Given the description of an element on the screen output the (x, y) to click on. 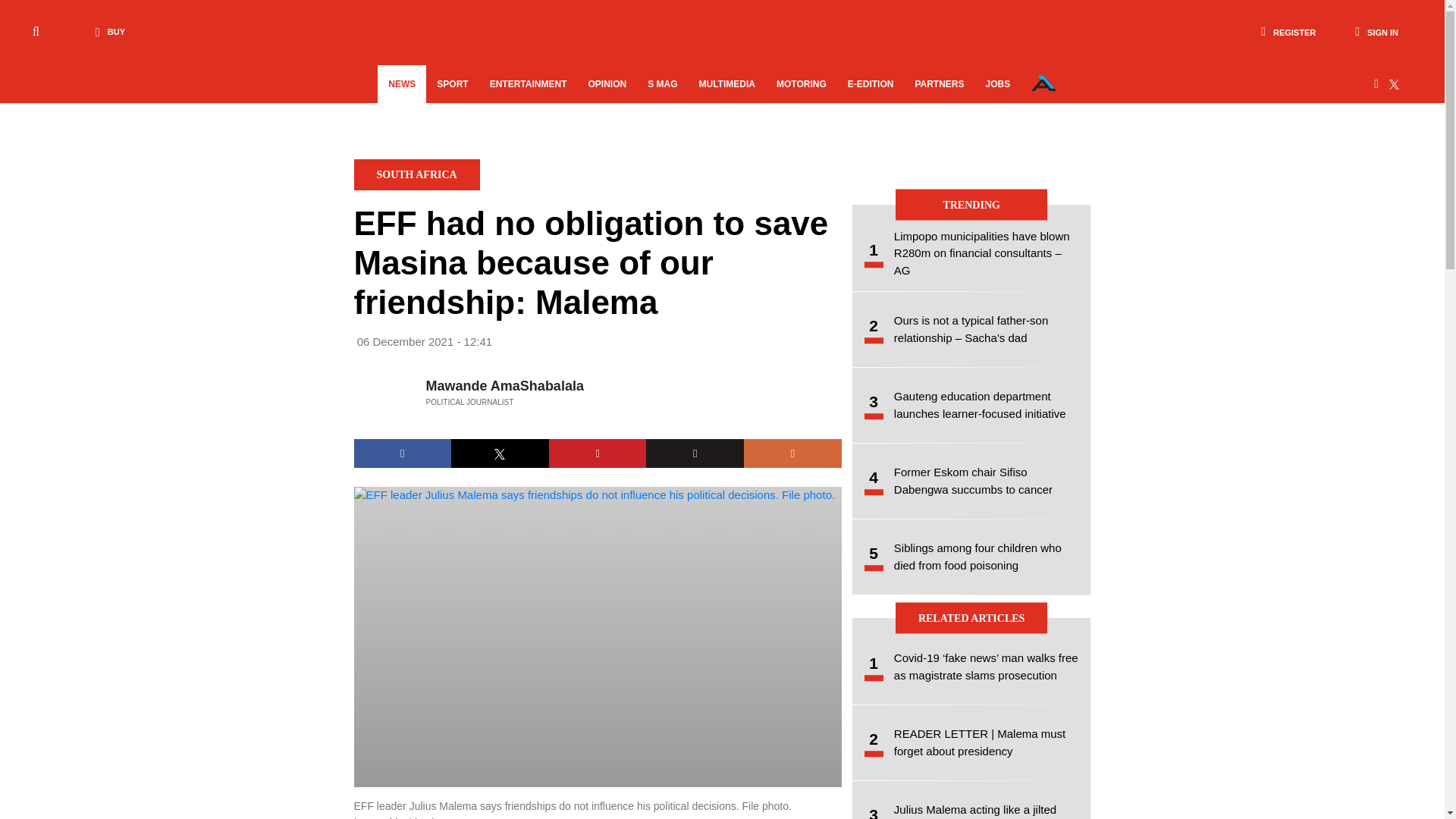
S MAG (662, 84)
OPINION (606, 84)
PARTNERS (939, 84)
SIGN IN (1376, 32)
BUY (106, 32)
JOBS (998, 84)
ENTERTAINMENT (528, 84)
SPORT (452, 84)
MOTORING (801, 84)
REGISTER (1288, 32)
